Given the description of an element on the screen output the (x, y) to click on. 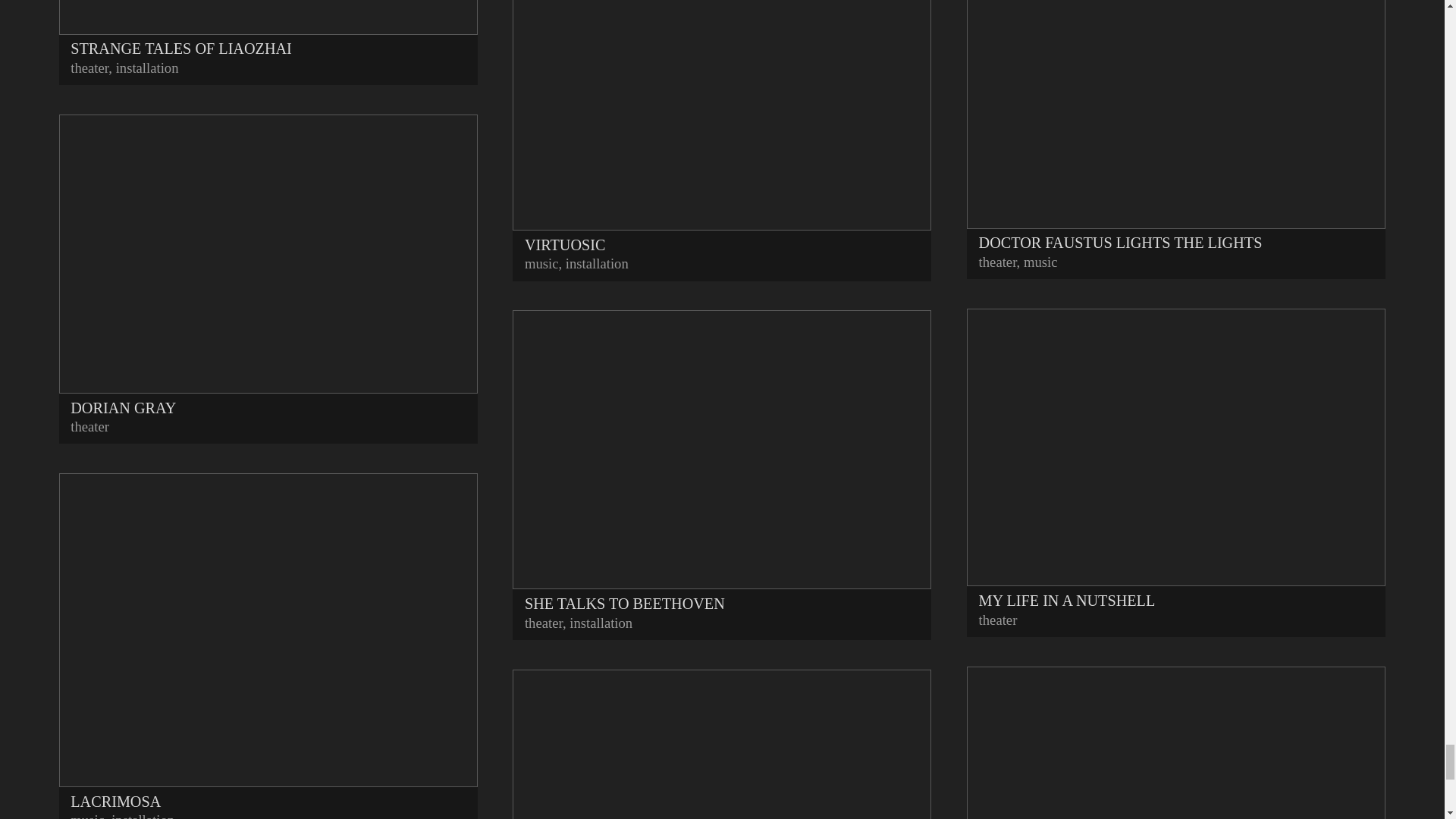
installation (147, 67)
STRANGE TALES OF LIAOZHAI (268, 29)
theater (88, 67)
